Given the description of an element on the screen output the (x, y) to click on. 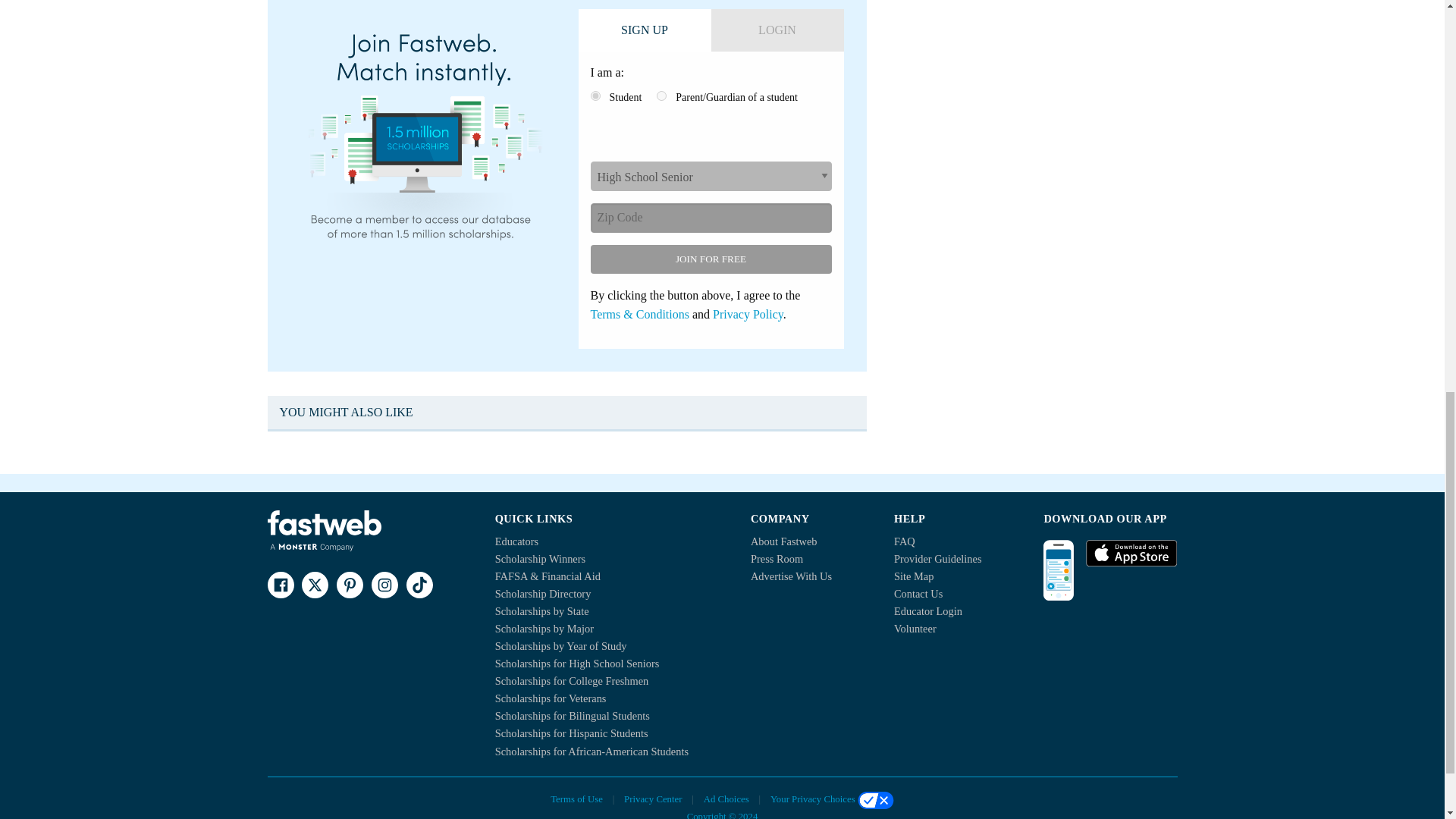
2 (661, 95)
Fastweb on IOS (1131, 553)
Fastweb on Pinterest (349, 584)
Fastweb on TikTok (419, 584)
Join for free (710, 258)
1 (594, 95)
Fastweb on Instagram (384, 584)
Fastweb on Facebook (280, 584)
